Given the description of an element on the screen output the (x, y) to click on. 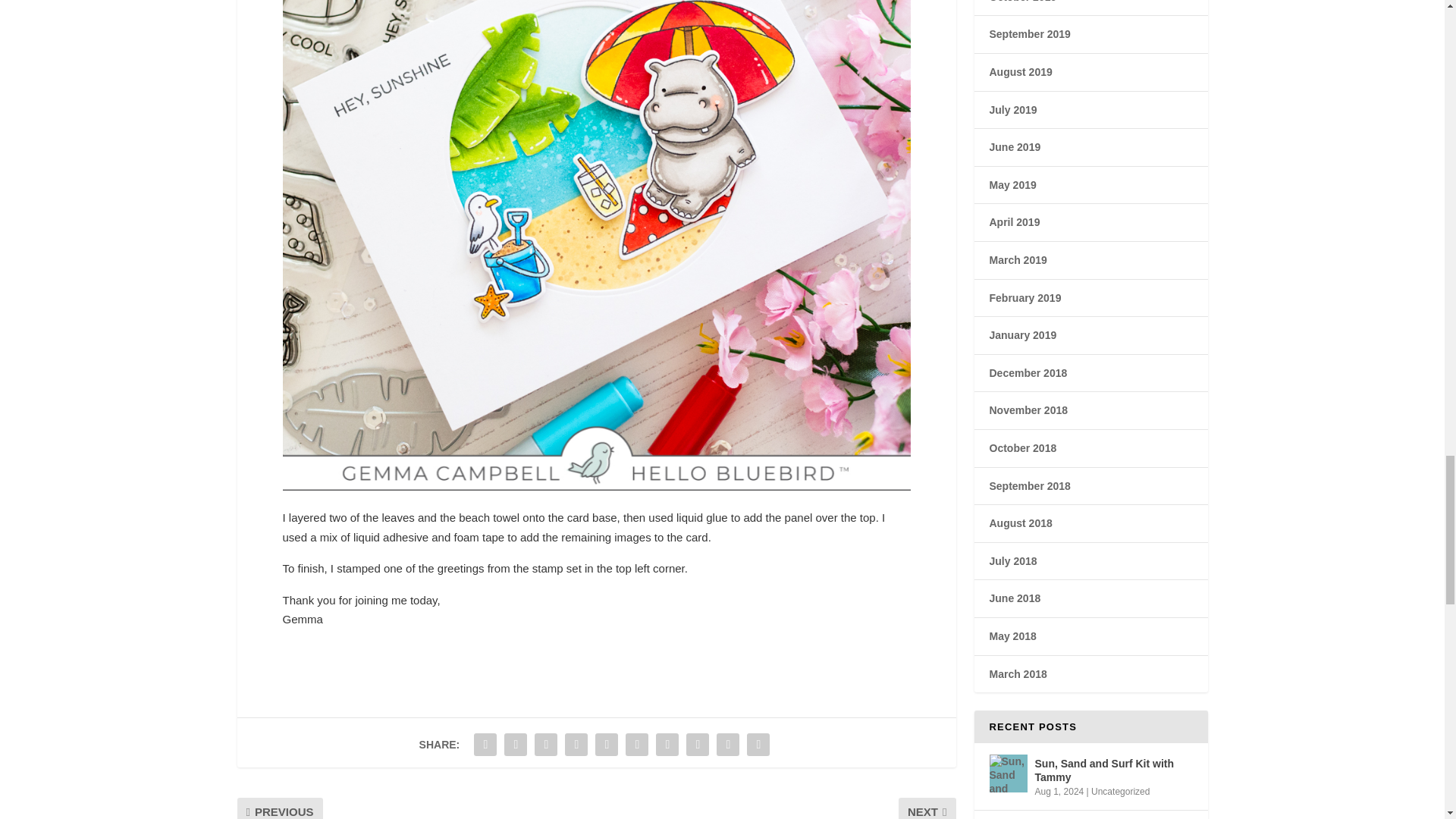
Share "Hippos on Holiday with Gemma" via Twitter (515, 744)
Share "Hippos on Holiday with Gemma" via Facebook (485, 744)
Share "Hippos on Holiday with Gemma" via LinkedIn (636, 744)
Share "Hippos on Holiday with Gemma" via Tumblr (575, 744)
Share "Hippos on Holiday with Gemma" via Email (727, 744)
Share "Hippos on Holiday with Gemma" via Stumbleupon (697, 744)
Share "Hippos on Holiday with Gemma" via Pinterest (606, 744)
Share "Hippos on Holiday with Gemma" via Buffer (667, 744)
